Given the description of an element on the screen output the (x, y) to click on. 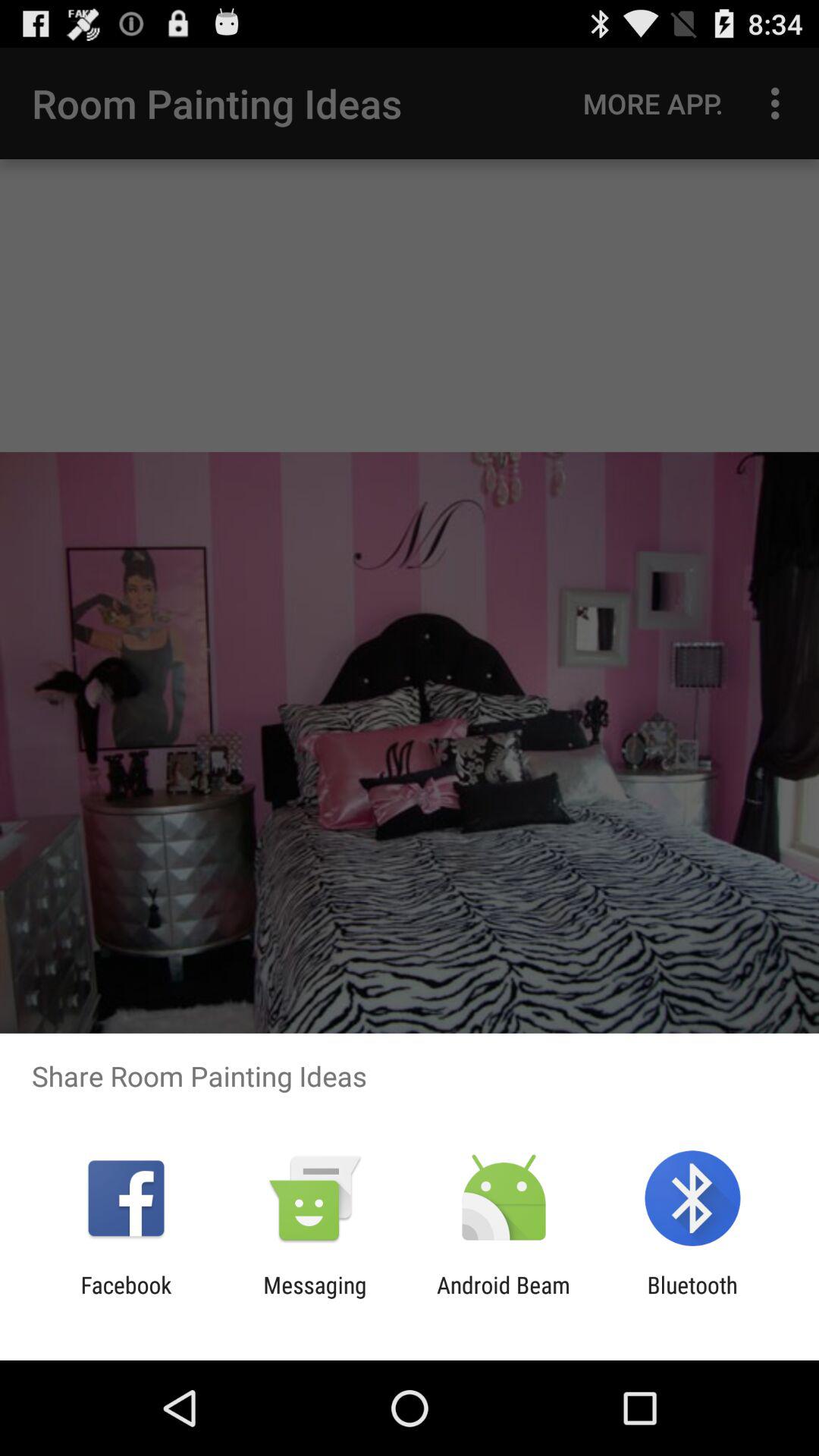
click item to the right of the android beam (692, 1298)
